Given the description of an element on the screen output the (x, y) to click on. 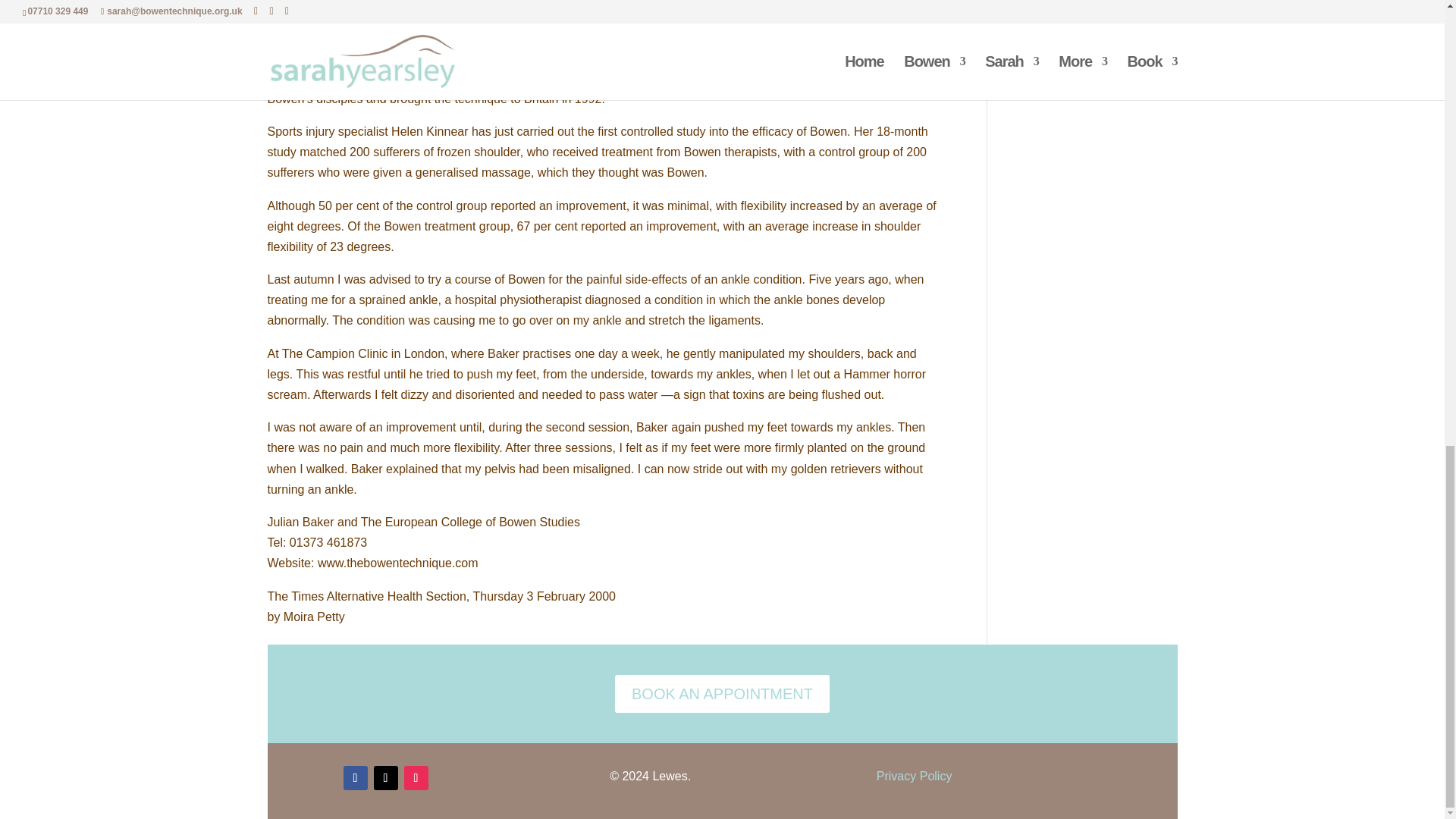
Follow on Facebook (354, 777)
BOOK AN APPOINTMENT (721, 693)
Privacy Policy (914, 775)
Follow on Instagram (415, 777)
Follow on X (384, 777)
